Given the description of an element on the screen output the (x, y) to click on. 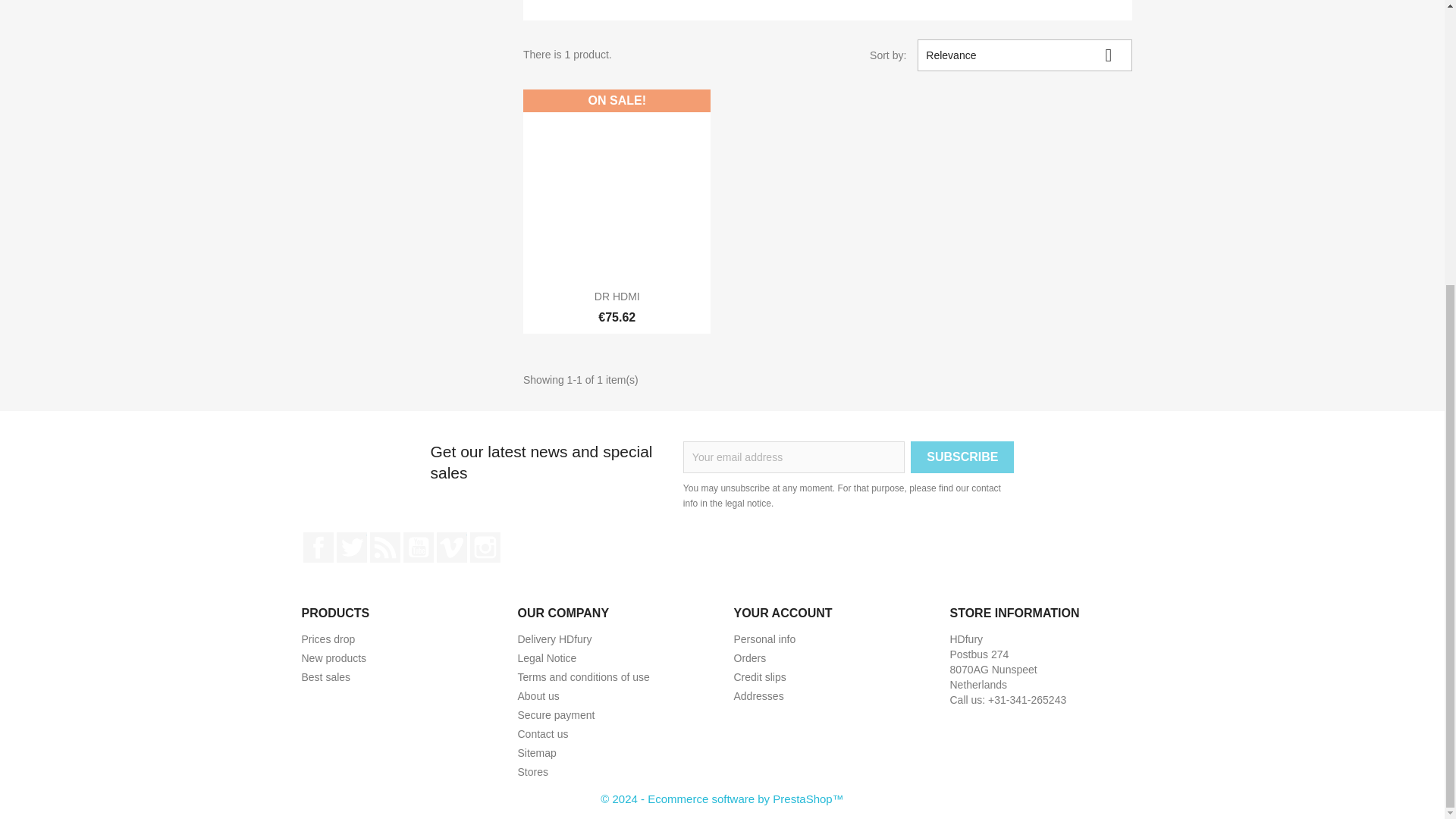
Personal info (764, 639)
Addresses (758, 695)
Subscribe (962, 457)
Lost ? Find what your are looking for (536, 752)
Orders (750, 657)
Use our form to contact us (541, 734)
Our terms and conditions of use (582, 676)
Our HDfury terms and conditions of delivery (553, 639)
Legal notice (546, 657)
Our best sales (325, 676)
